Given the description of an element on the screen output the (x, y) to click on. 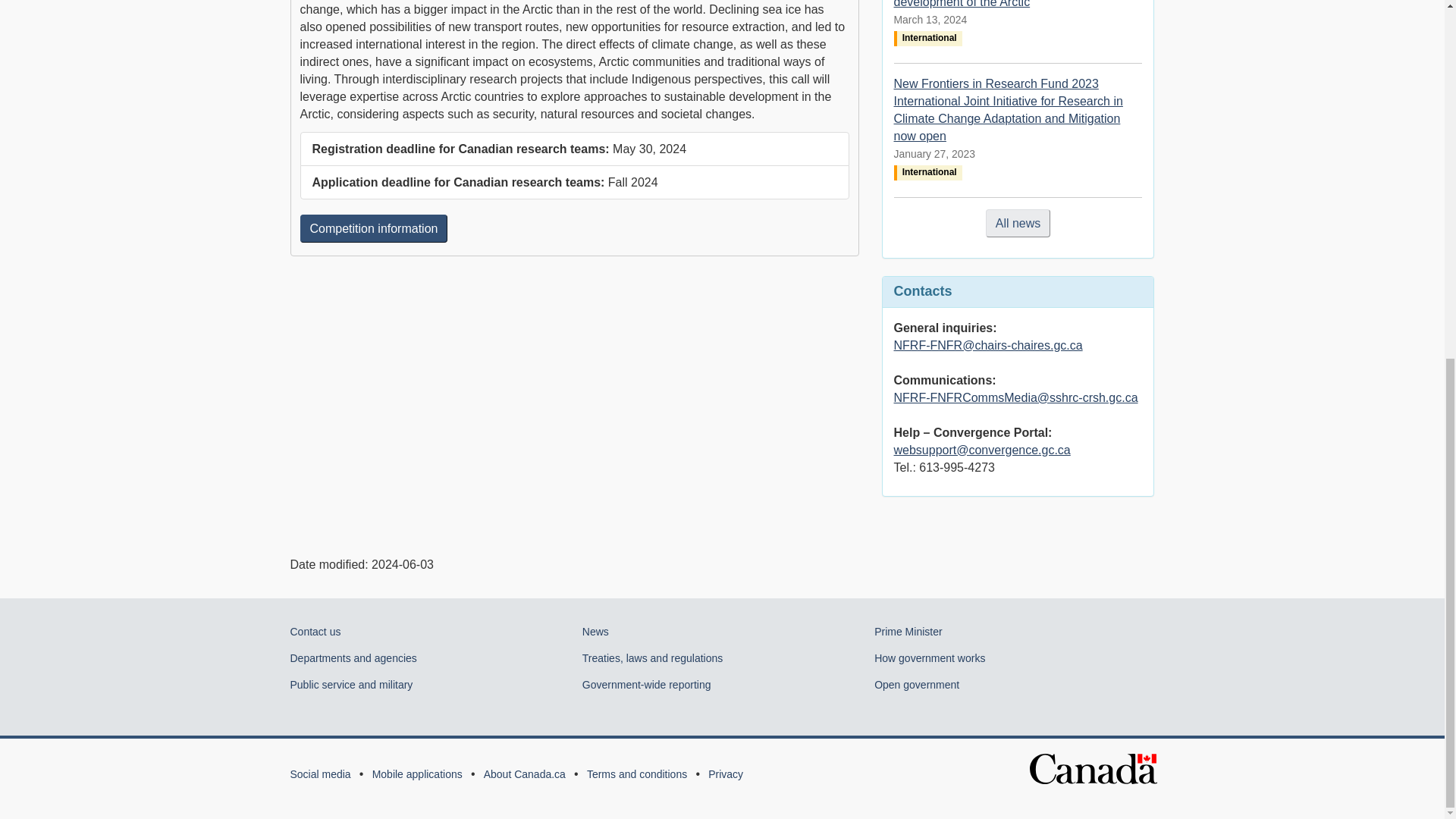
All news (1018, 223)
Competition information (373, 228)
